Given the description of an element on the screen output the (x, y) to click on. 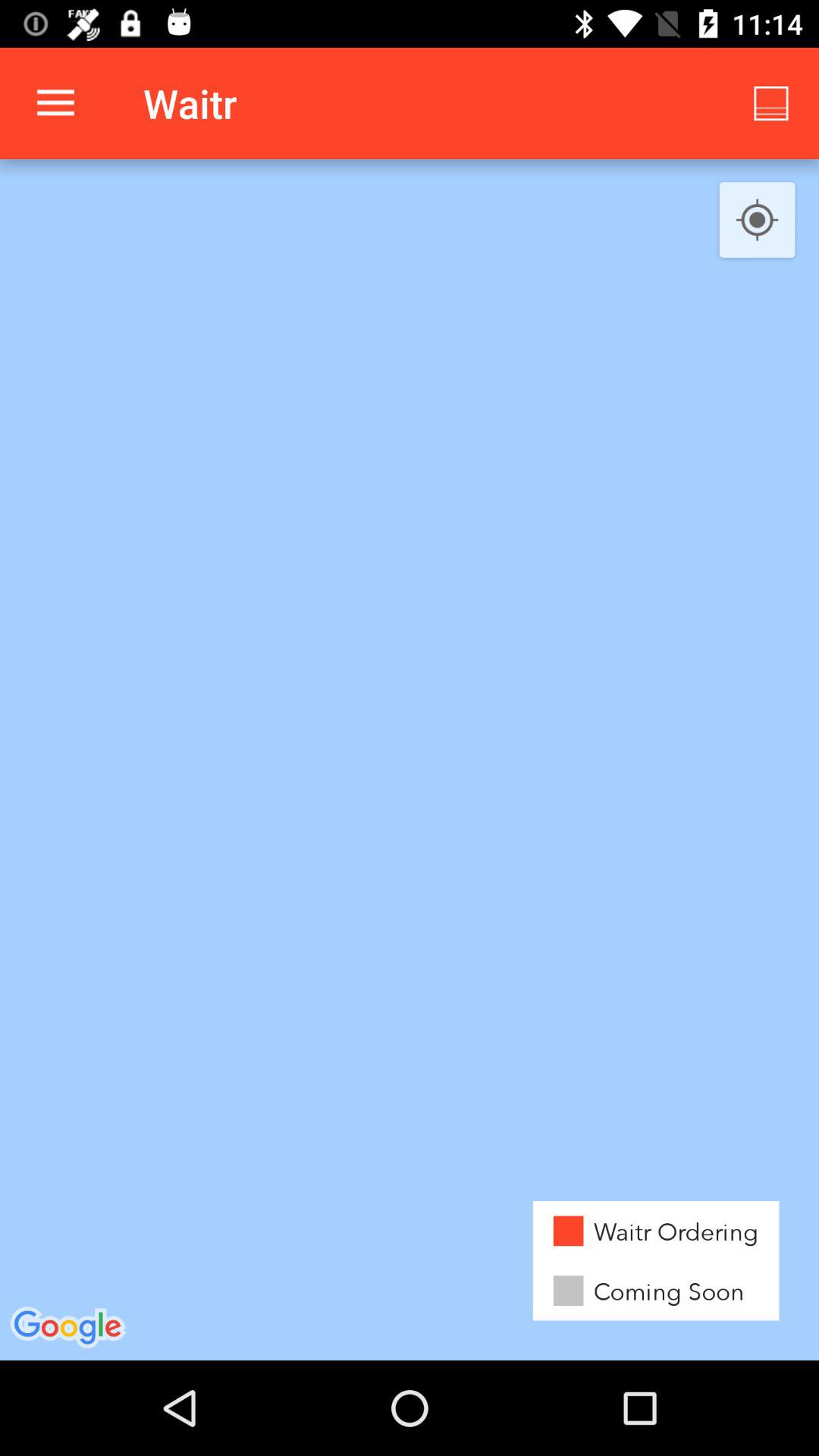
turn on the icon above waitr ordering icon (757, 220)
